Given the description of an element on the screen output the (x, y) to click on. 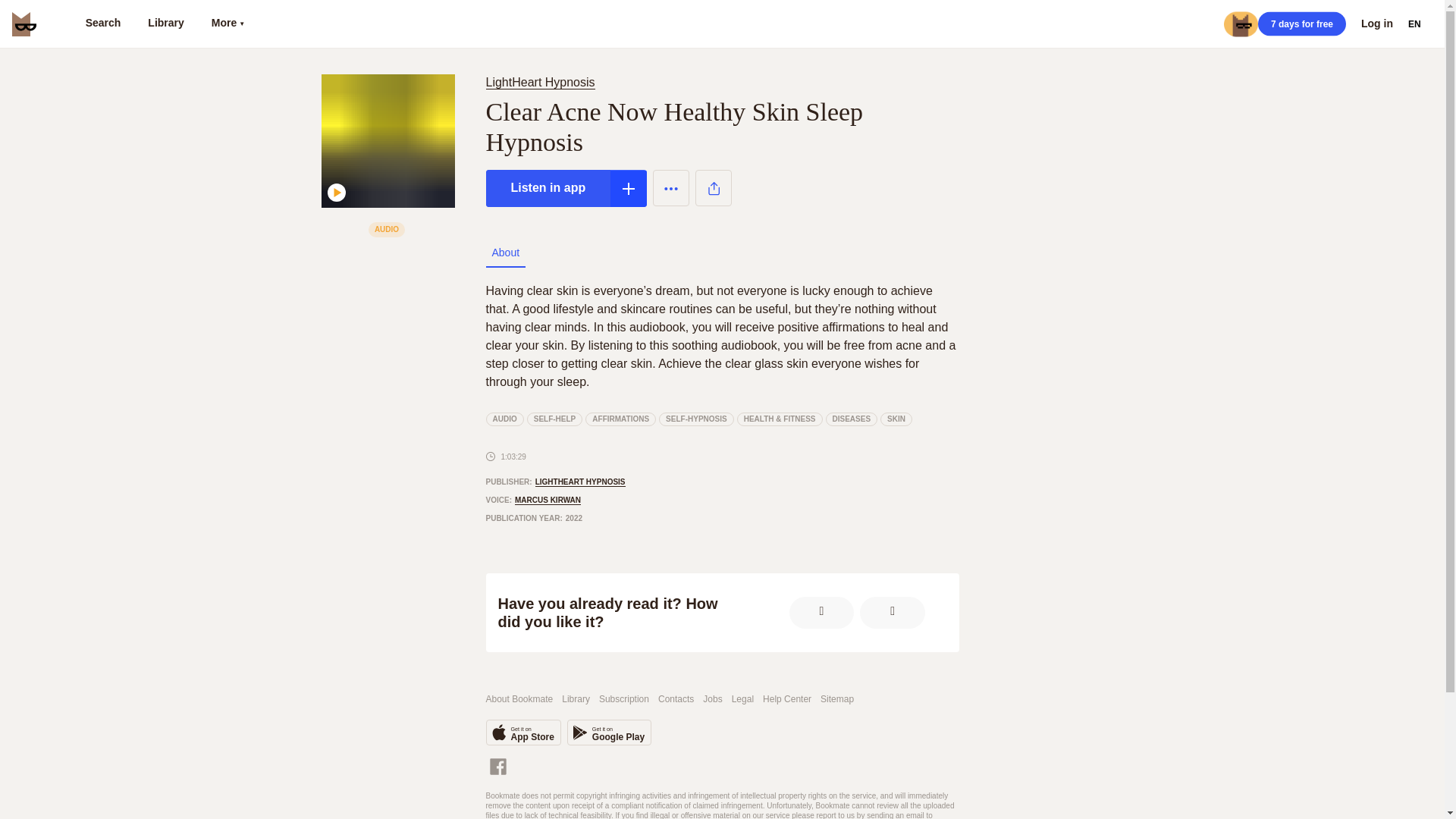
About Bookmate (518, 699)
Sitemap (522, 732)
7 days for free (837, 699)
Jobs (608, 732)
AUDIO (1301, 23)
SKIN (712, 699)
SELF-HELP (503, 418)
Subscription (896, 418)
